Given the description of an element on the screen output the (x, y) to click on. 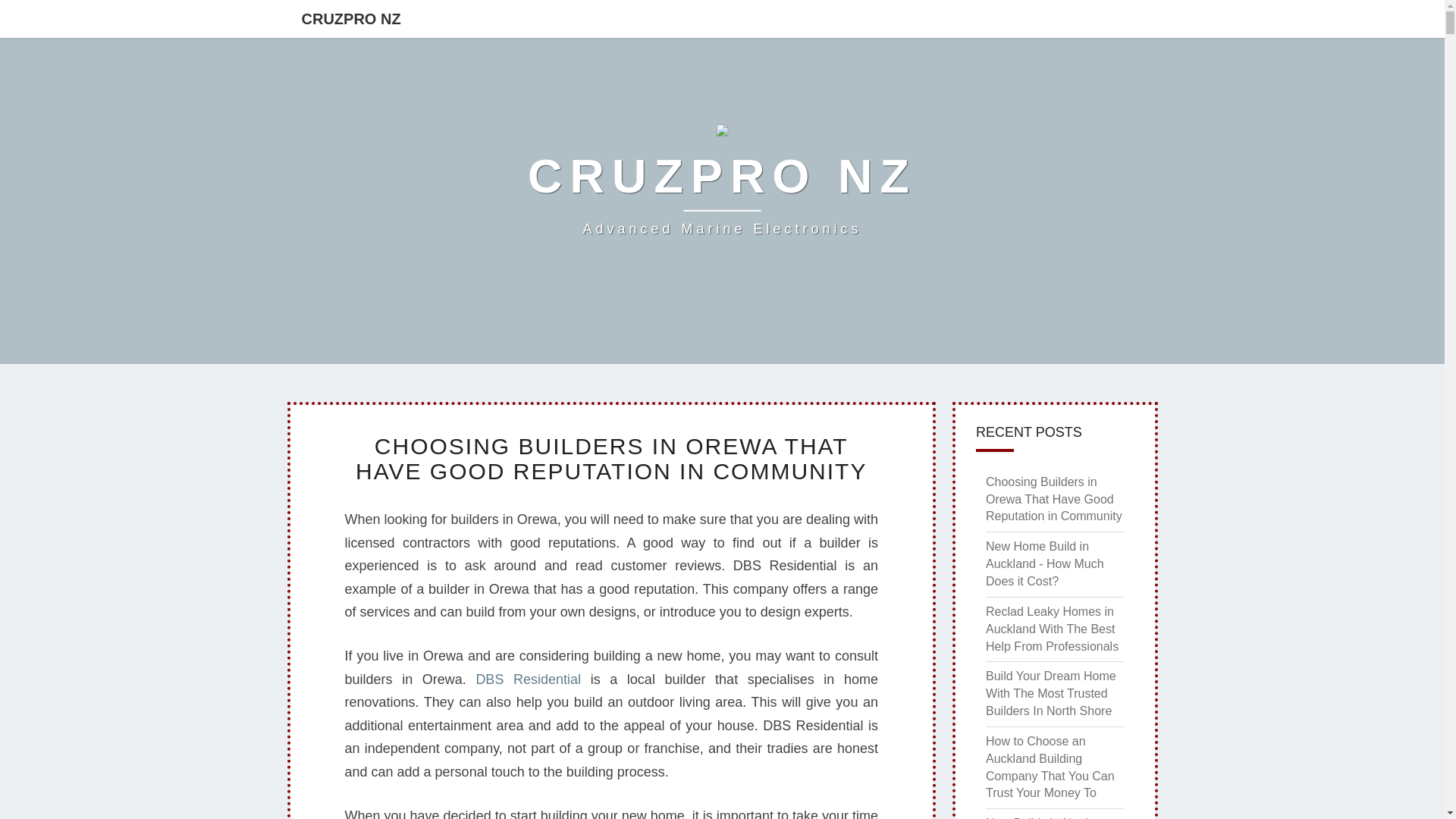
CruzPro NZ (722, 184)
DBS Residential (528, 679)
CRUZPRO NZ (722, 184)
